Given the description of an element on the screen output the (x, y) to click on. 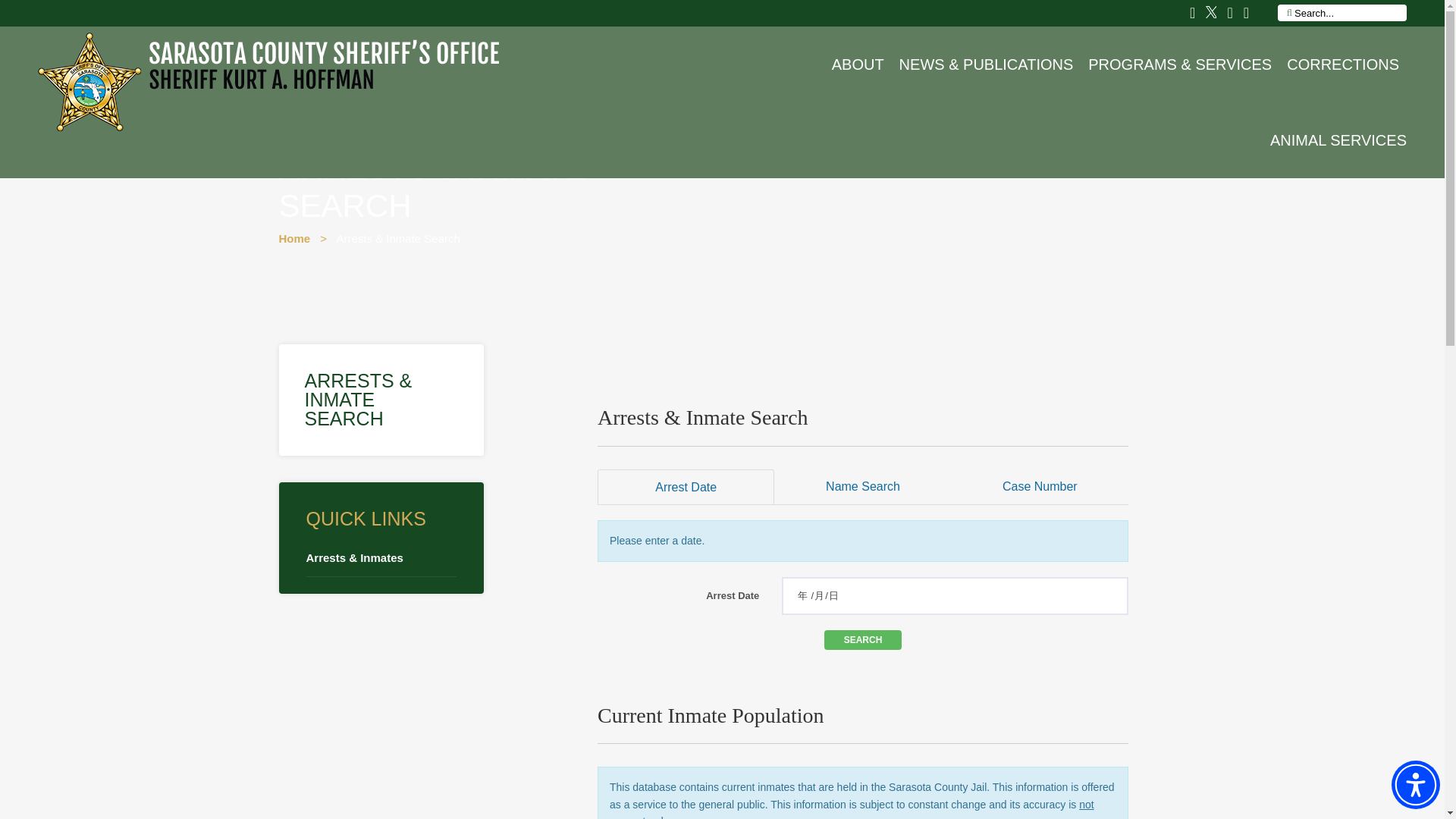
ABOUT (857, 64)
Accessibility Menu (1415, 784)
